Given the description of an element on the screen output the (x, y) to click on. 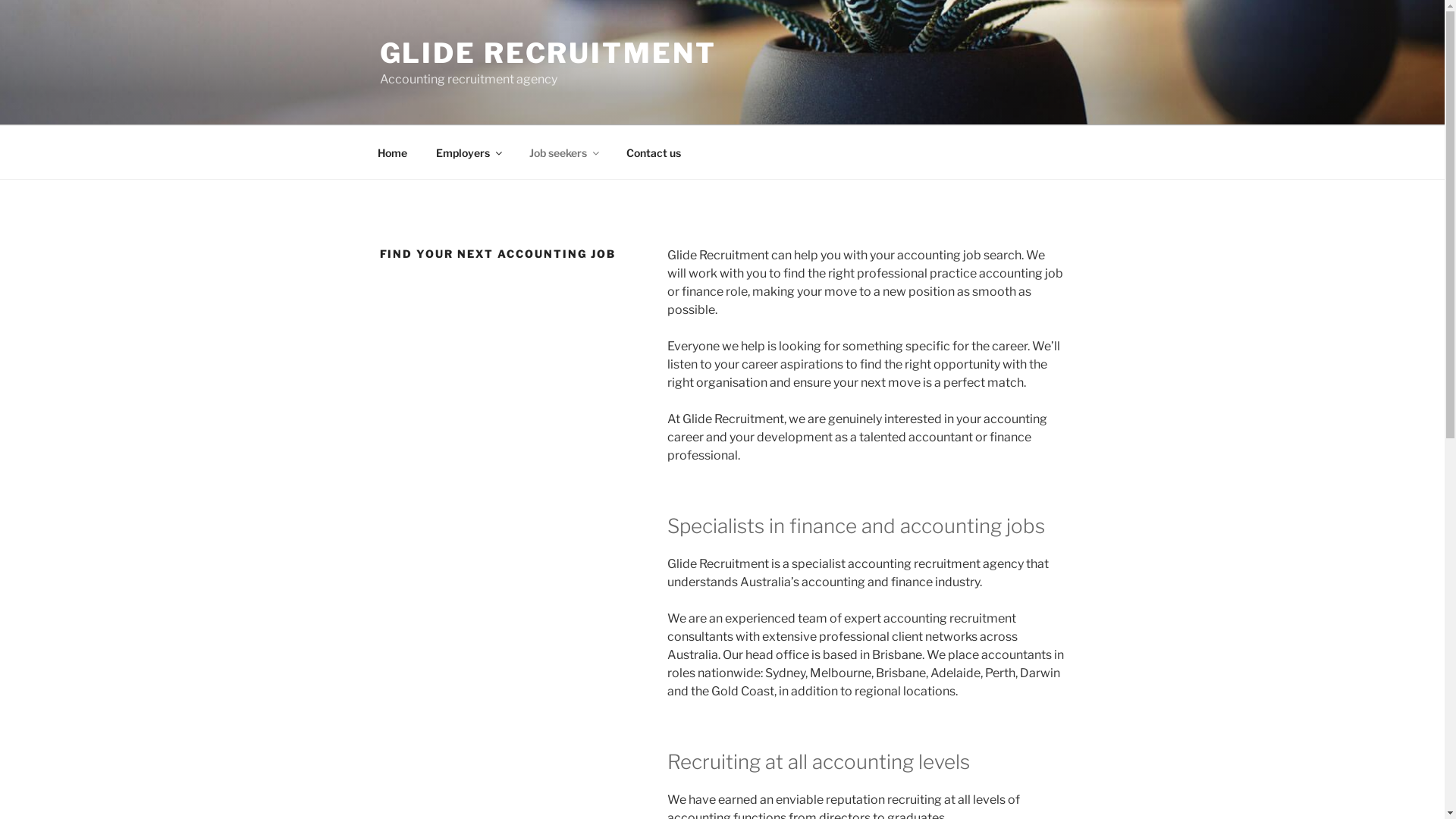
Employers Element type: text (468, 151)
Home Element type: text (392, 151)
Contact us Element type: text (652, 151)
GLIDE RECRUITMENT Element type: text (547, 52)
Job seekers Element type: text (562, 151)
Skip to content Element type: text (0, 0)
